Given the description of an element on the screen output the (x, y) to click on. 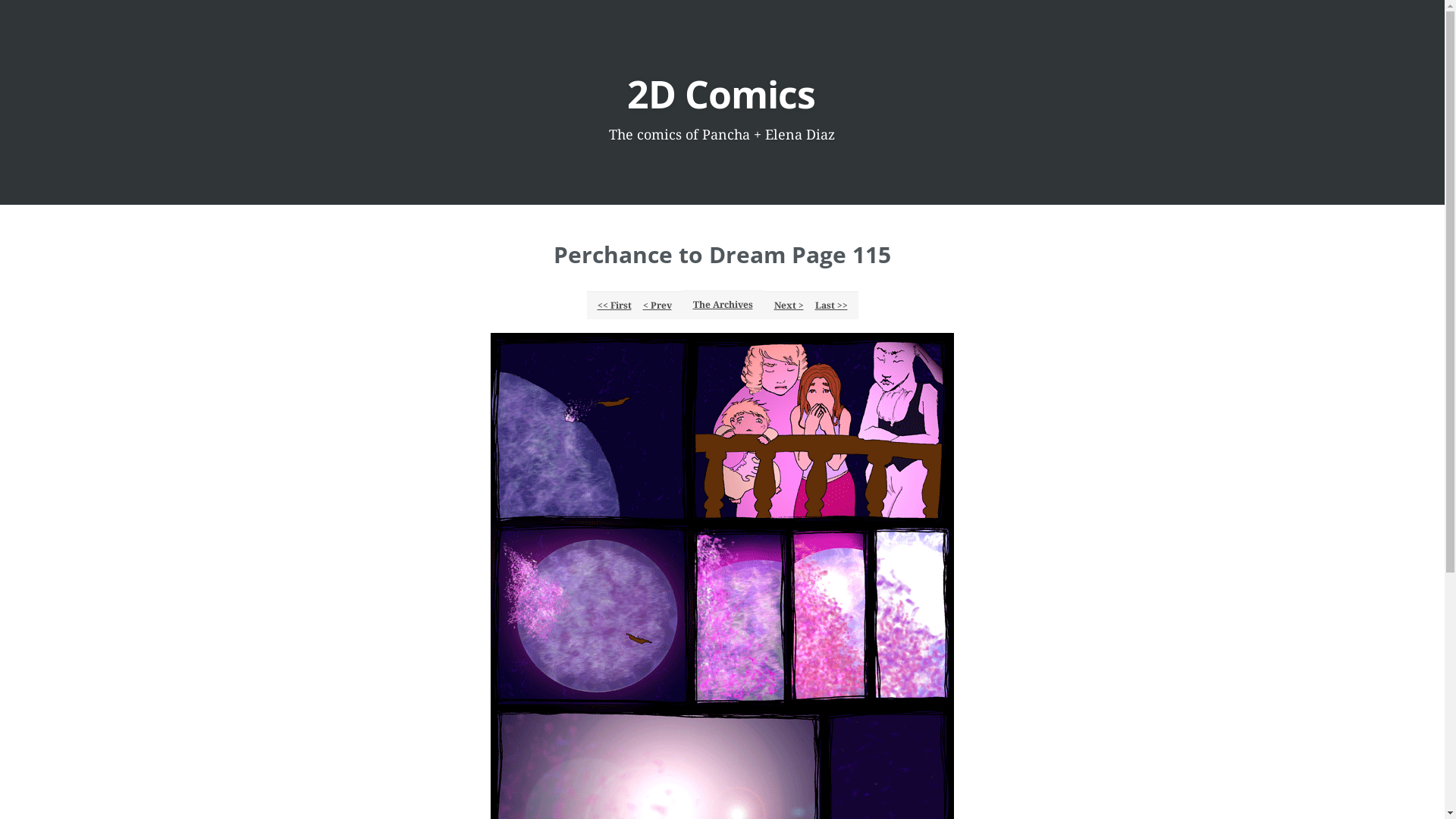
<< First Element type: text (614, 304)
Last >> Element type: text (830, 304)
Perchance to Dream Page 115 Element type: text (722, 253)
The Archives Element type: text (722, 304)
< Prev Element type: text (657, 304)
Next > Element type: text (787, 304)
2D Comics Element type: text (721, 93)
